Given the description of an element on the screen output the (x, y) to click on. 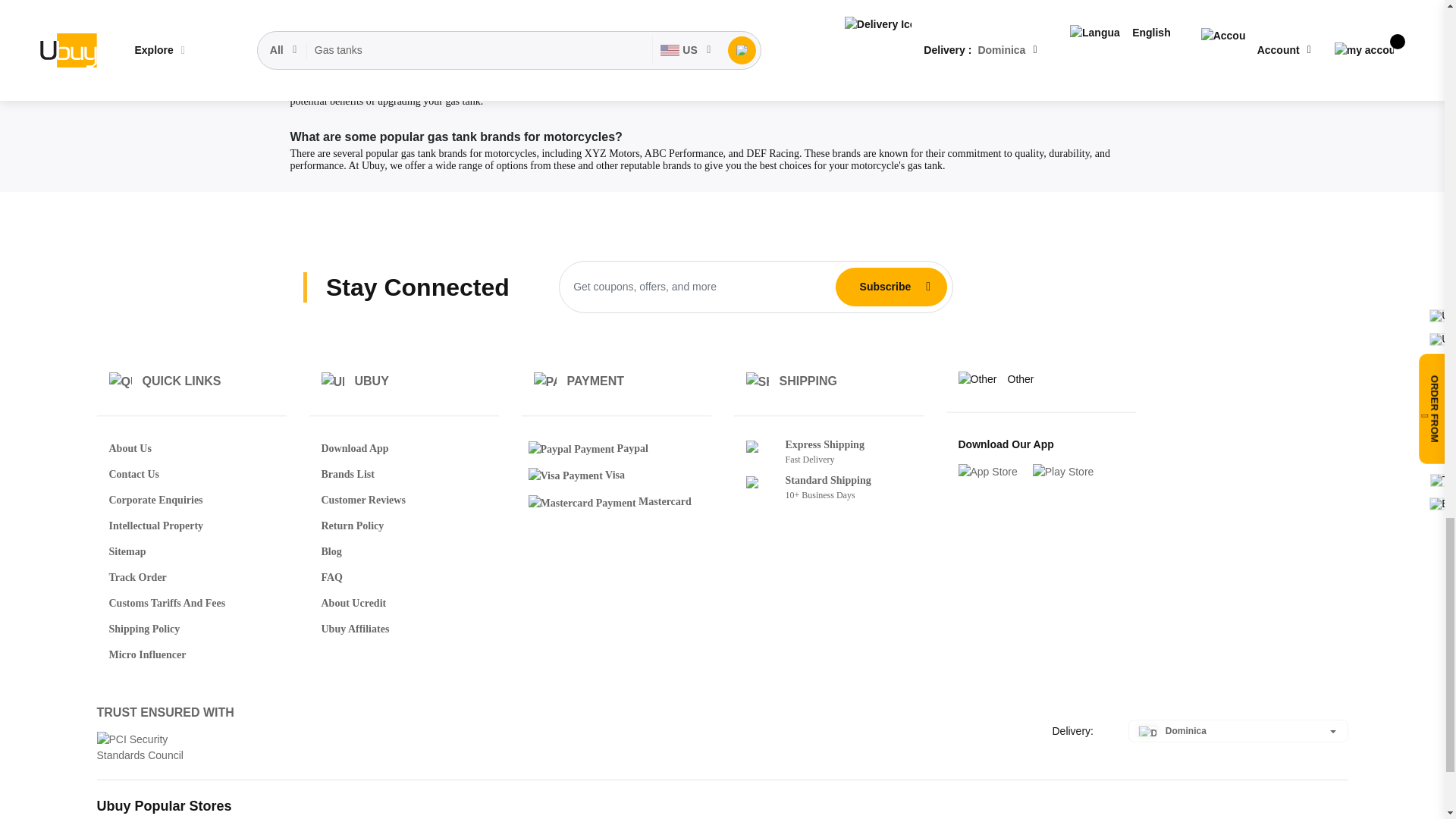
Subscribe (885, 286)
